Given the description of an element on the screen output the (x, y) to click on. 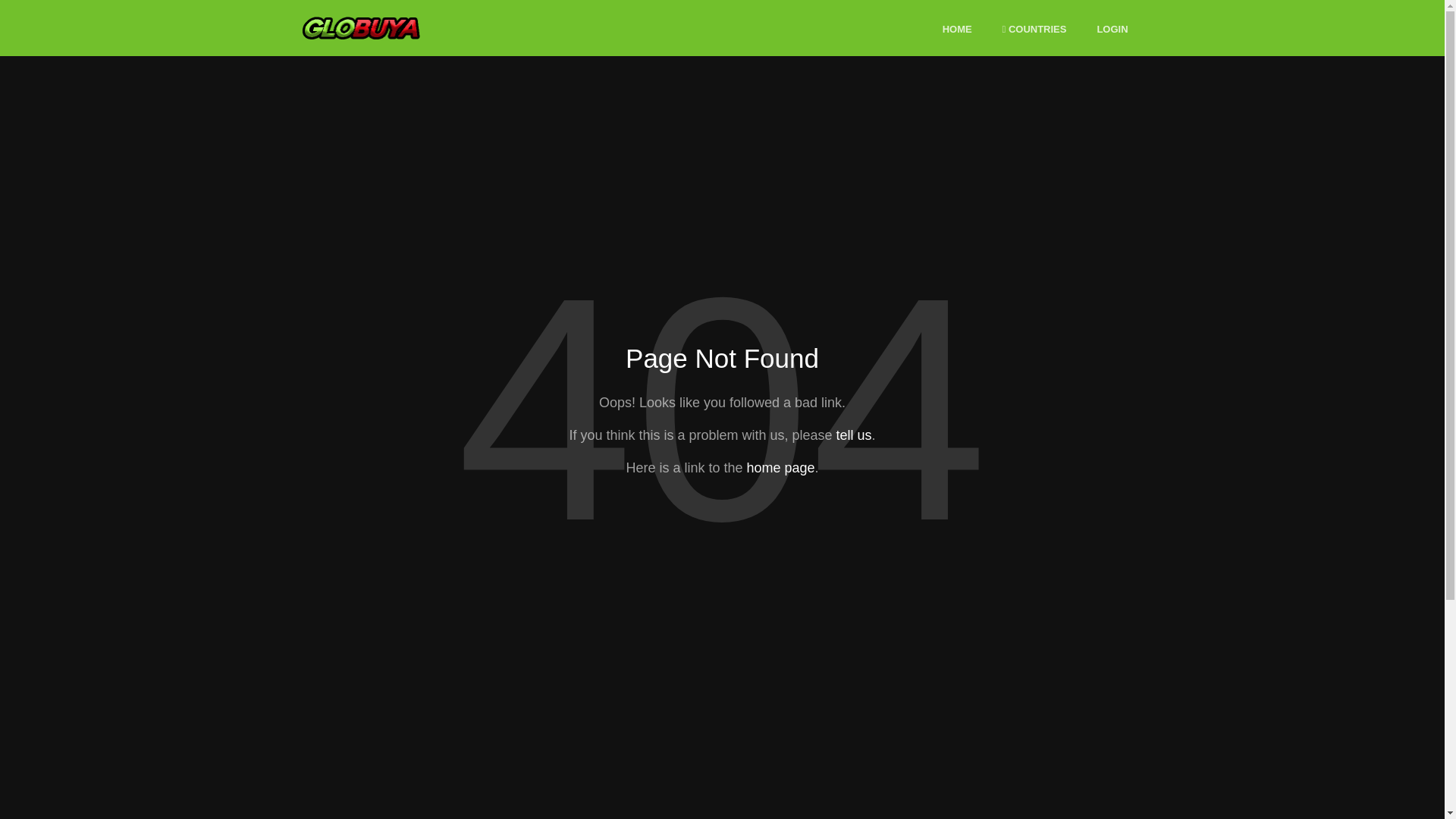
home page (779, 467)
HOME (957, 29)
tell us (852, 435)
